Given the description of an element on the screen output the (x, y) to click on. 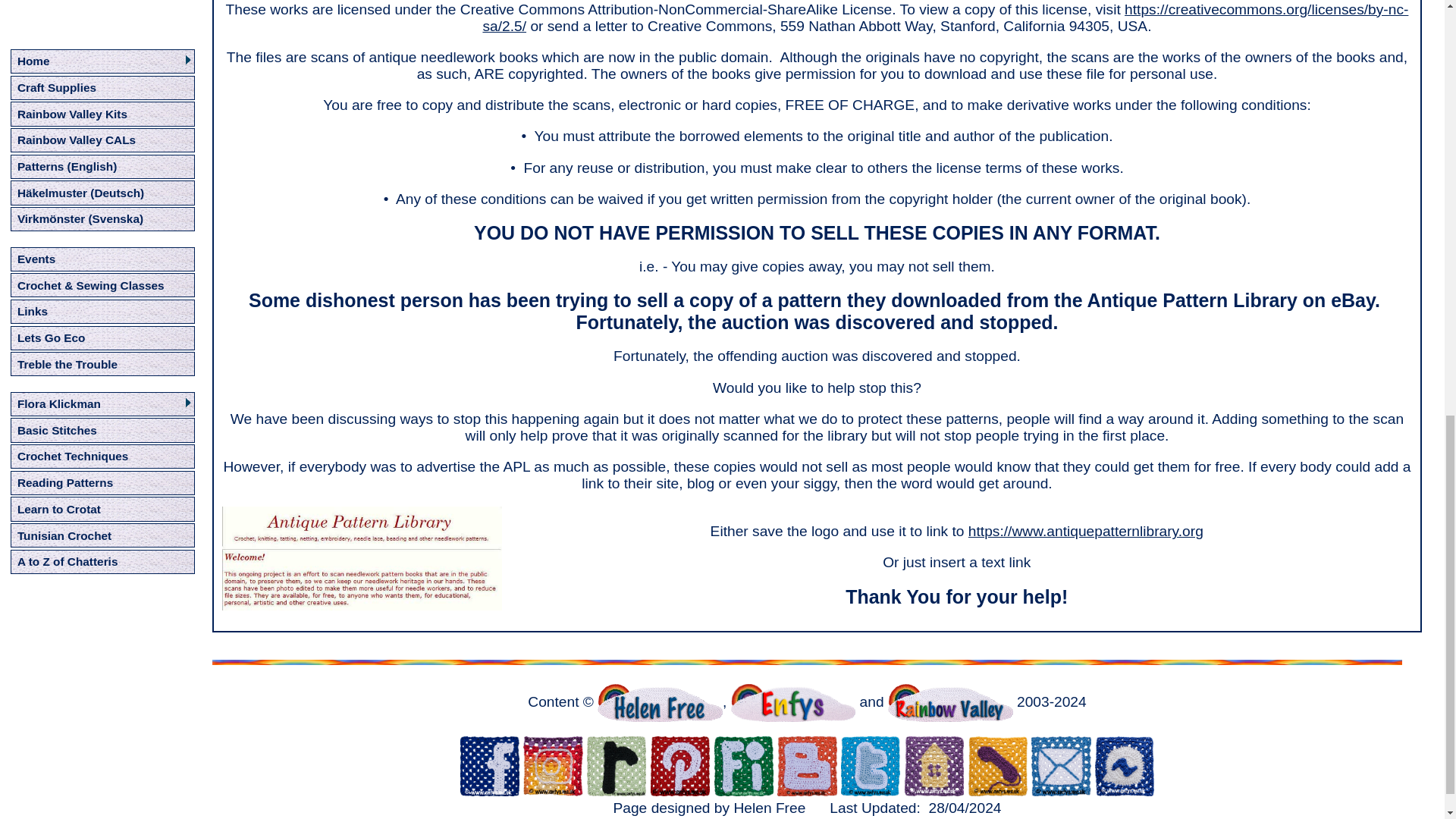
Rainbow Valley (950, 702)
Find Me on FreeIndex (743, 765)
Follow Me on Twitter (870, 765)
Enfys (793, 702)
Follow Me on Pinterest (680, 765)
Find Me on Facebook (489, 765)
Find Me on Ravelry (616, 765)
Helen Free (659, 702)
Follow Me on Instagram (552, 765)
Read my Blog (806, 765)
Send me a message (1124, 765)
Address (933, 765)
Telephone (997, 765)
